Given the description of an element on the screen output the (x, y) to click on. 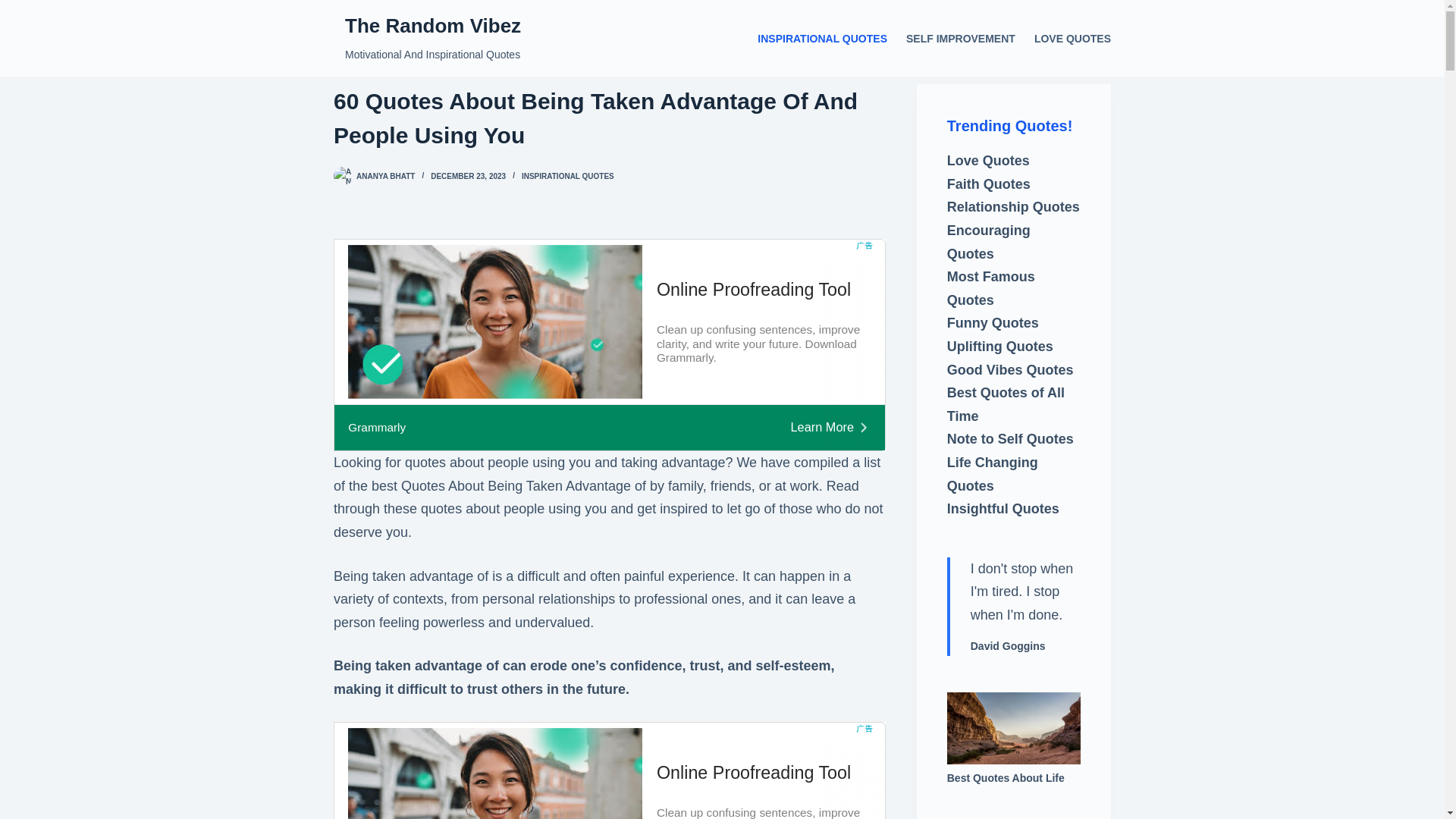
SELF IMPROVEMENT (960, 38)
Advertisement (609, 770)
ANANYA BHATT (385, 175)
Advertisement (609, 345)
Skip to content (15, 7)
INSPIRATIONAL QUOTES (567, 175)
LOVE QUOTES (1067, 38)
The Random Vibez (433, 25)
Posts by Ananya Bhatt (385, 175)
